Given the description of an element on the screen output the (x, y) to click on. 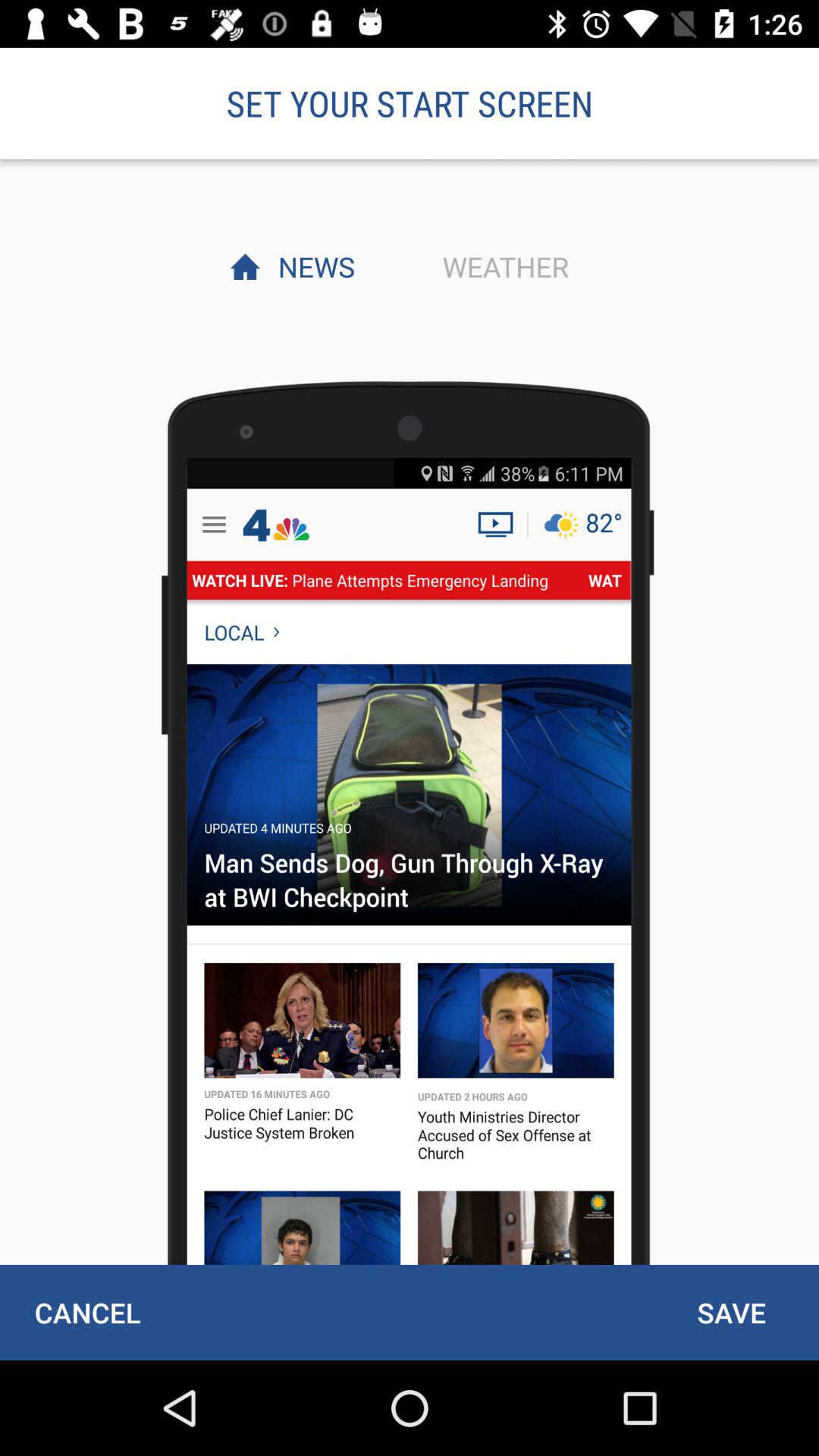
press icon next to the save item (87, 1312)
